Given the description of an element on the screen output the (x, y) to click on. 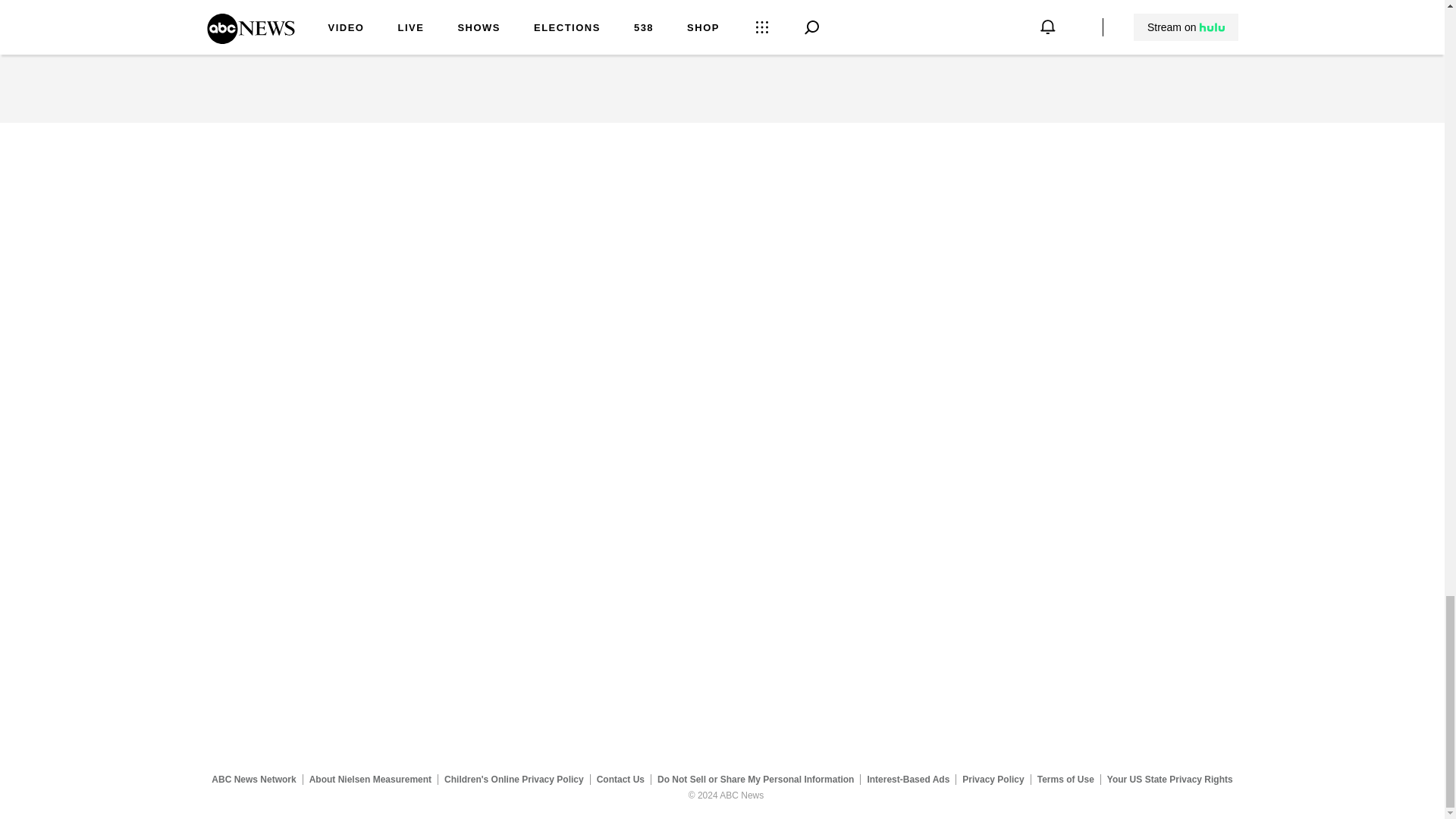
About Nielsen Measurement (370, 778)
Do Not Sell or Share My Personal Information (755, 778)
ABC News Network (253, 778)
Your US State Privacy Rights (1169, 778)
Privacy Policy (993, 778)
Terms of Use (1065, 778)
Contact Us (620, 778)
Children's Online Privacy Policy (514, 778)
Interest-Based Ads (908, 778)
